Given the description of an element on the screen output the (x, y) to click on. 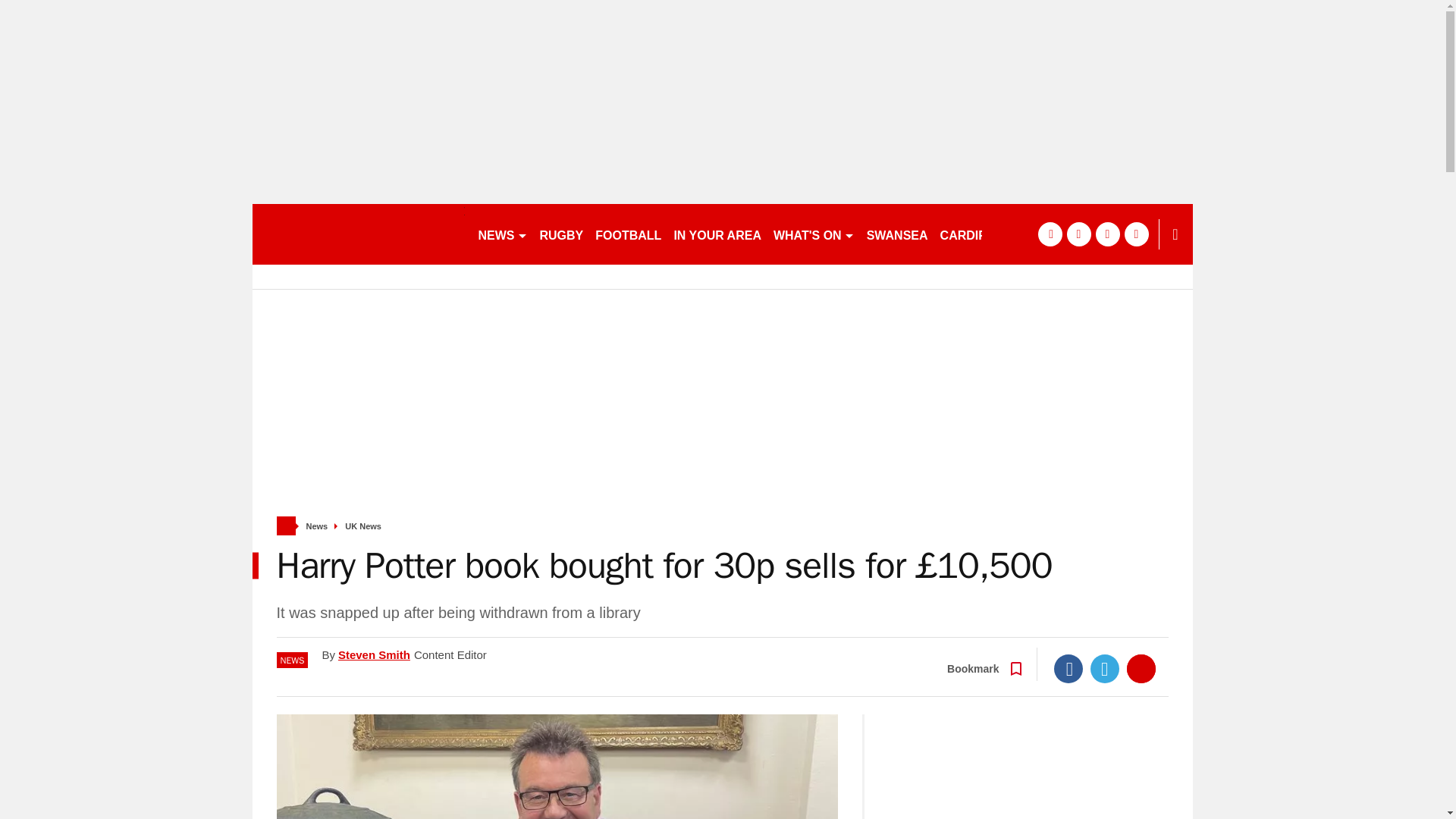
walesonline (357, 233)
instagram (1136, 233)
WHAT'S ON (813, 233)
Twitter (1104, 668)
IN YOUR AREA (716, 233)
RUGBY (561, 233)
twitter (1077, 233)
Facebook (1068, 668)
NEWS (501, 233)
SWANSEA (897, 233)
